Given the description of an element on the screen output the (x, y) to click on. 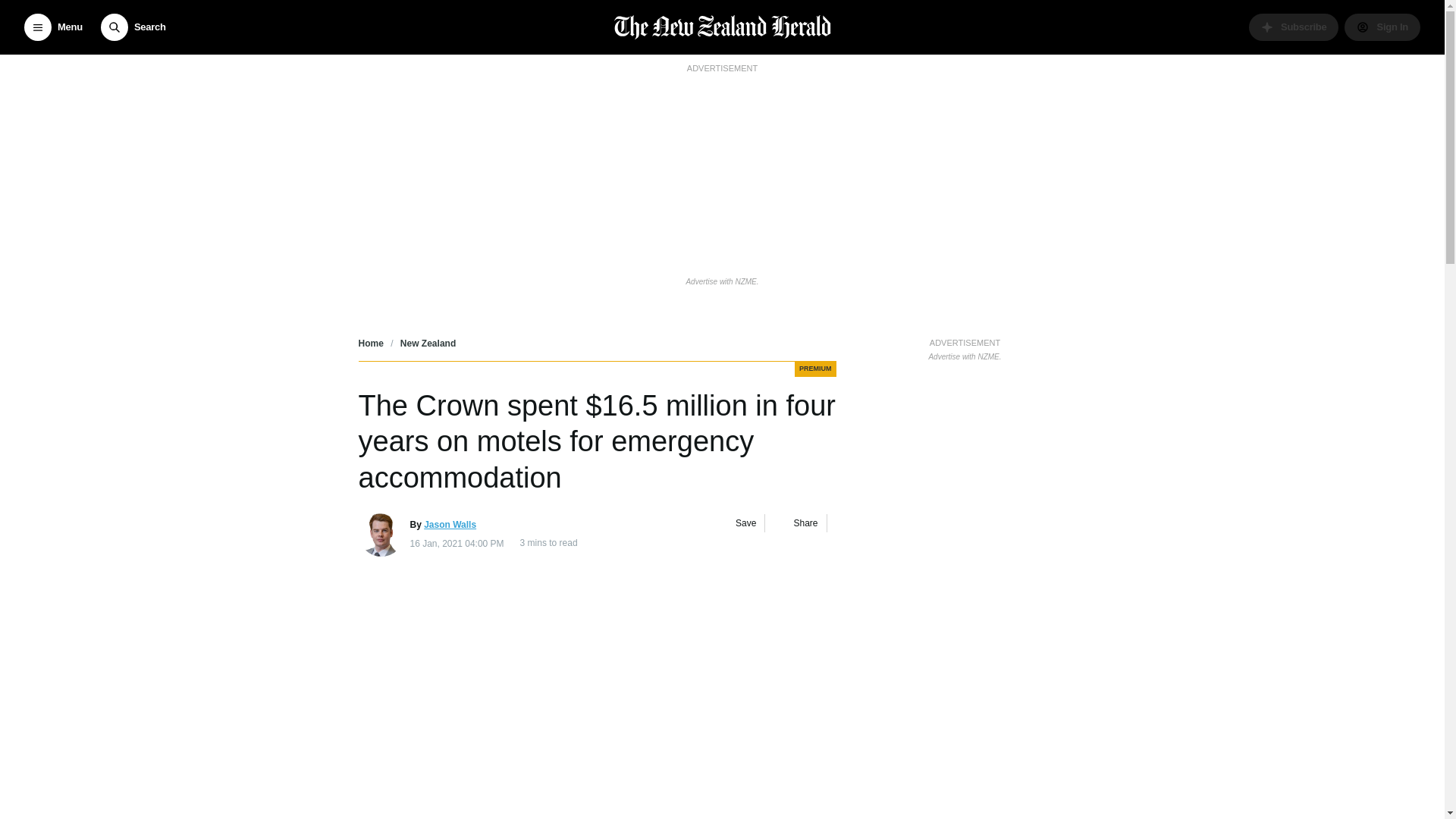
Search (132, 26)
Sign In (1382, 26)
Manage your account (1382, 26)
Menu (53, 26)
Subscribe (1294, 26)
